Given the description of an element on the screen output the (x, y) to click on. 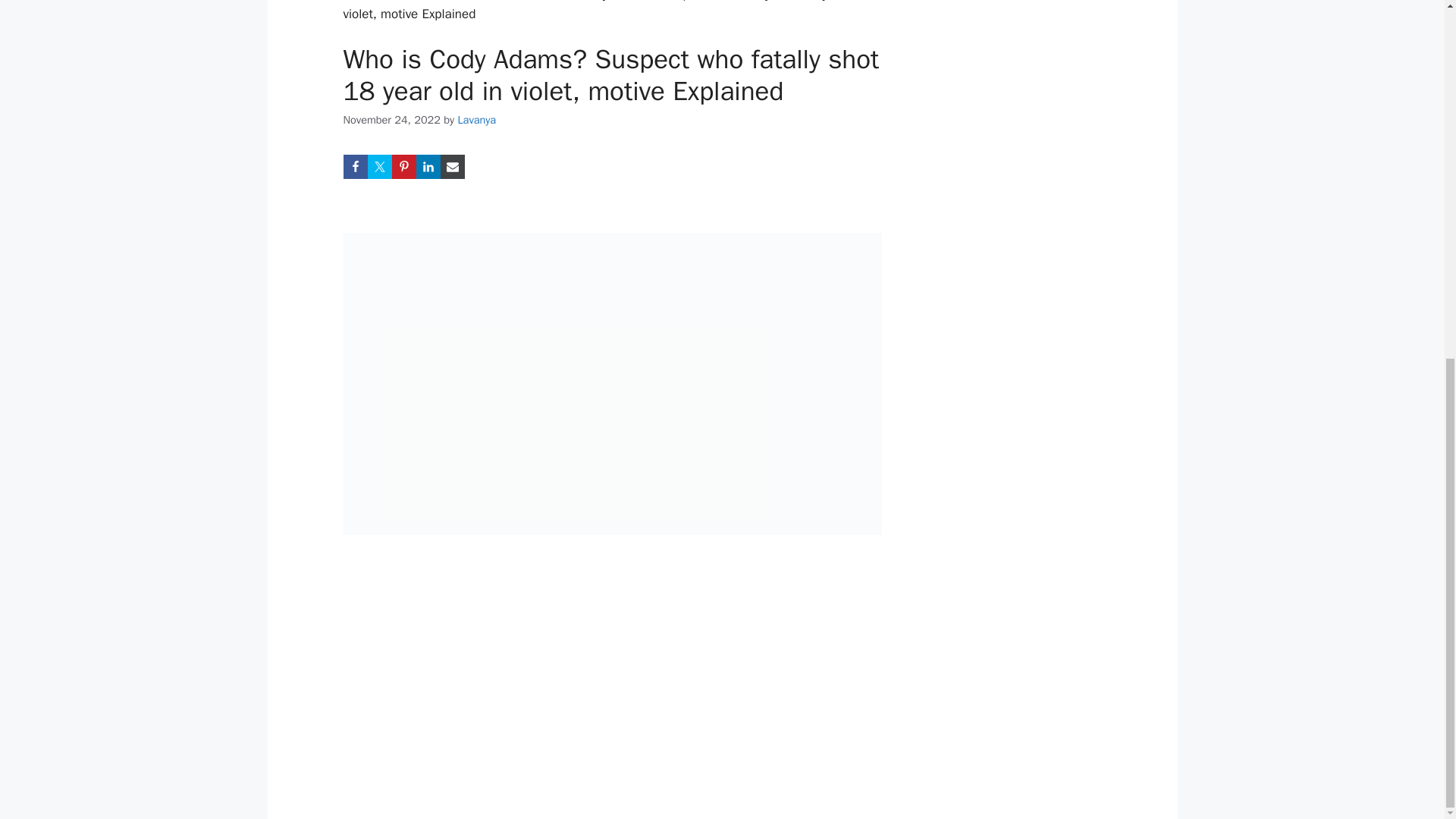
Share on Twitter (378, 166)
Share on Pinterest (402, 166)
Share on LinkedIn (426, 166)
Share via Email (451, 166)
Share on Facebook (354, 166)
View all posts by Lavanya (476, 119)
